Given the description of an element on the screen output the (x, y) to click on. 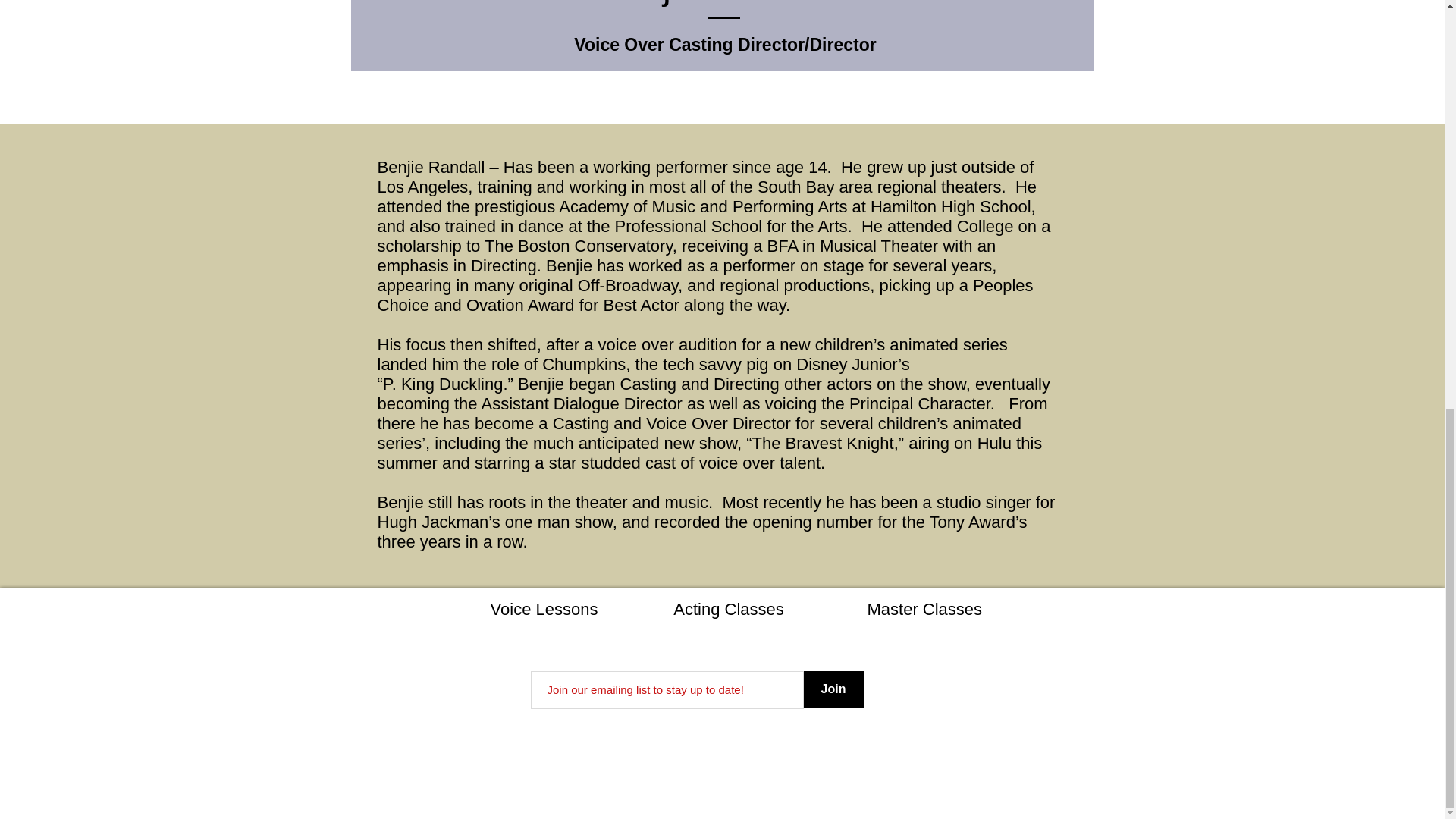
Acting Classes (728, 609)
Join (833, 689)
Master Classes (924, 609)
Voice Lessons (544, 609)
